Given the description of an element on the screen output the (x, y) to click on. 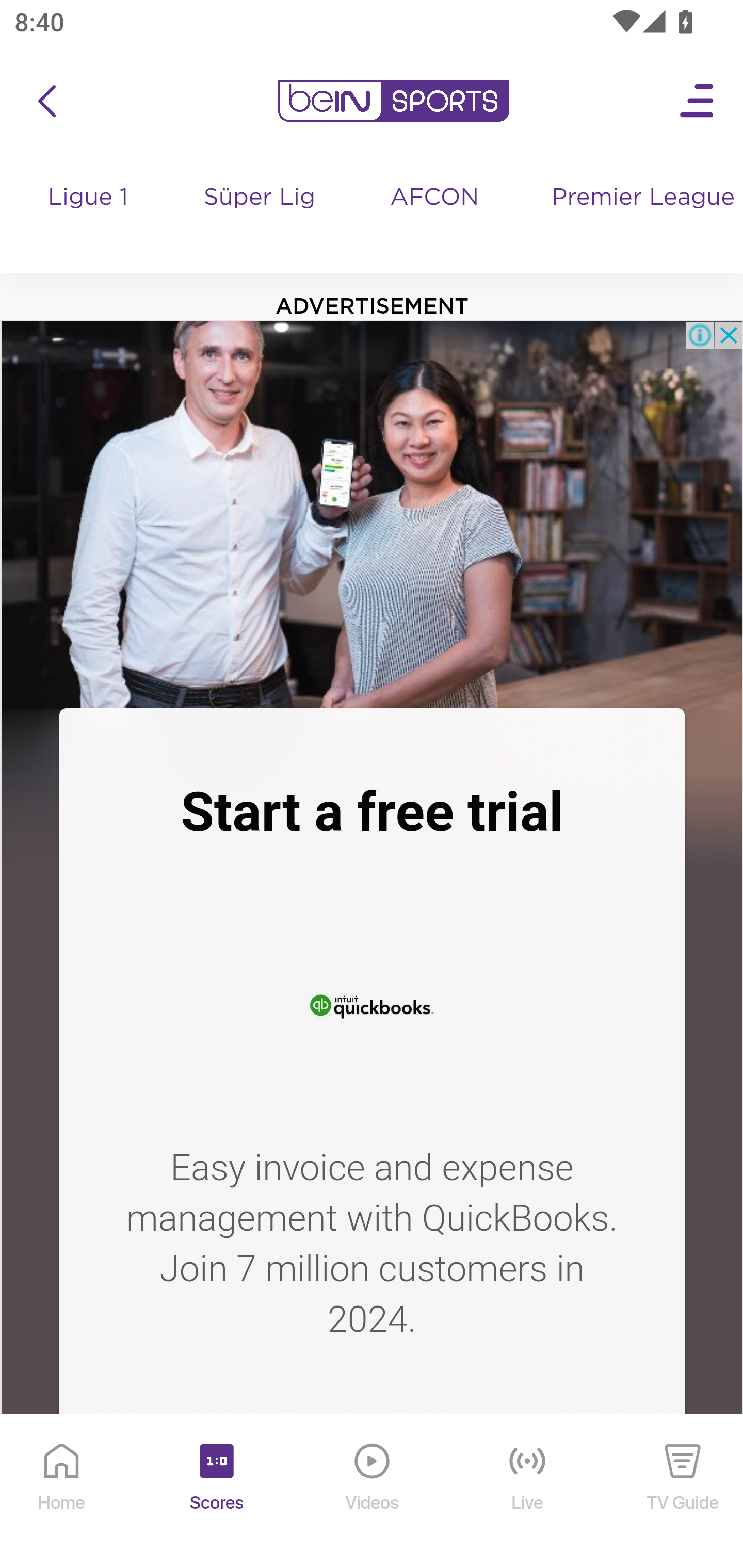
en-us?platform=mobile_android bein logo (392, 101)
icon back (46, 101)
Open Menu Icon (697, 101)
Ligue 1 (89, 216)
Süper Lig (260, 216)
AFCON (433, 198)
Premier League (639, 198)
%3Fcid%3Dppc_ROW_%7Bdscampaign%7D%26gclsrc%3Daw (371, 513)
Start a free trial (371, 812)
%3Fcid%3Dppc_ROW_%7Bdscampaign%7D%26gclsrc%3Daw (371, 1002)
%3Fcid%3Dppc_ROW_%7Bdscampaign%7D%26gclsrc%3Daw (371, 1480)
Home Home Icon Home (61, 1491)
Scores Scores Icon Scores (216, 1491)
TV Guide TV Guide Icon TV Guide (682, 1491)
